Given the description of an element on the screen output the (x, y) to click on. 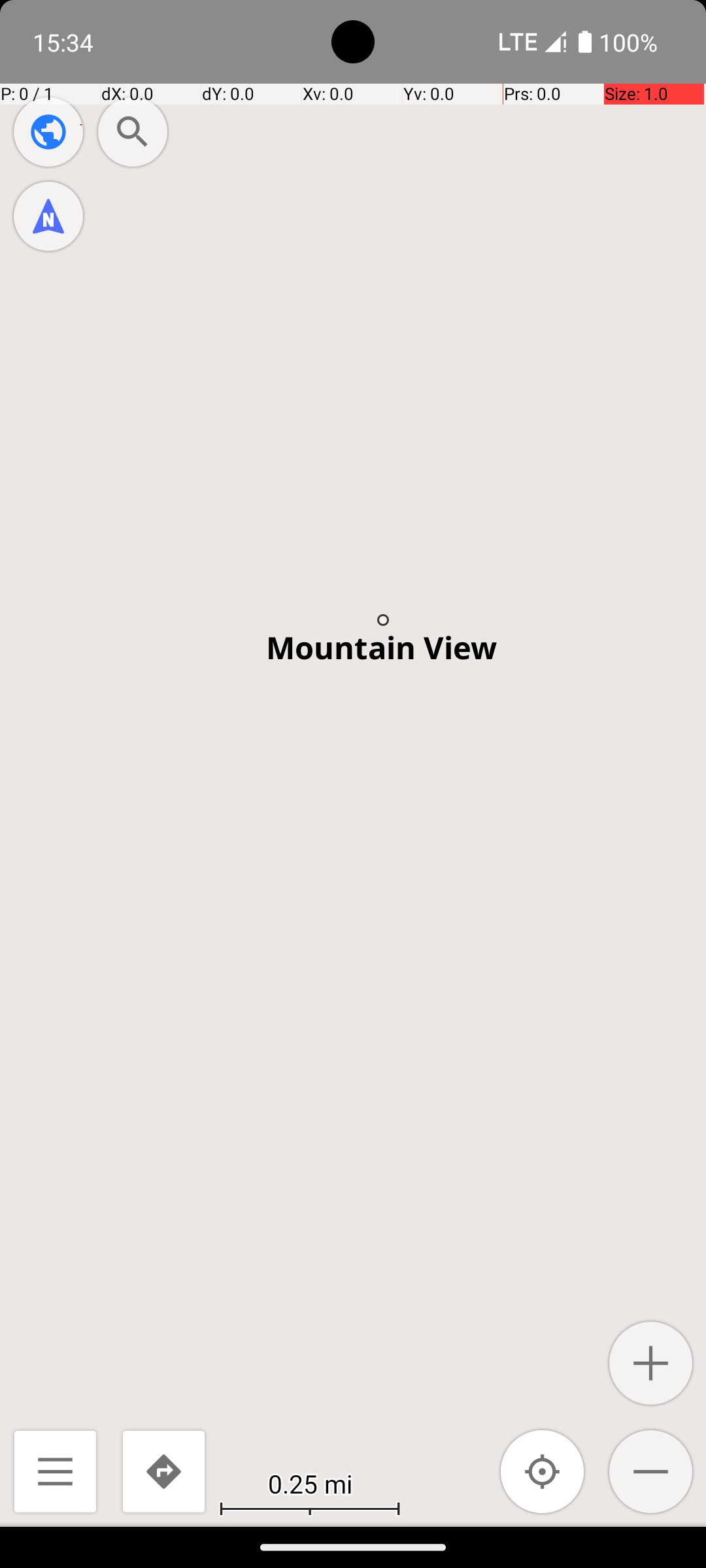
0.25 mi Element type: android.widget.TextView (309, 1483)
